Given the description of an element on the screen output the (x, y) to click on. 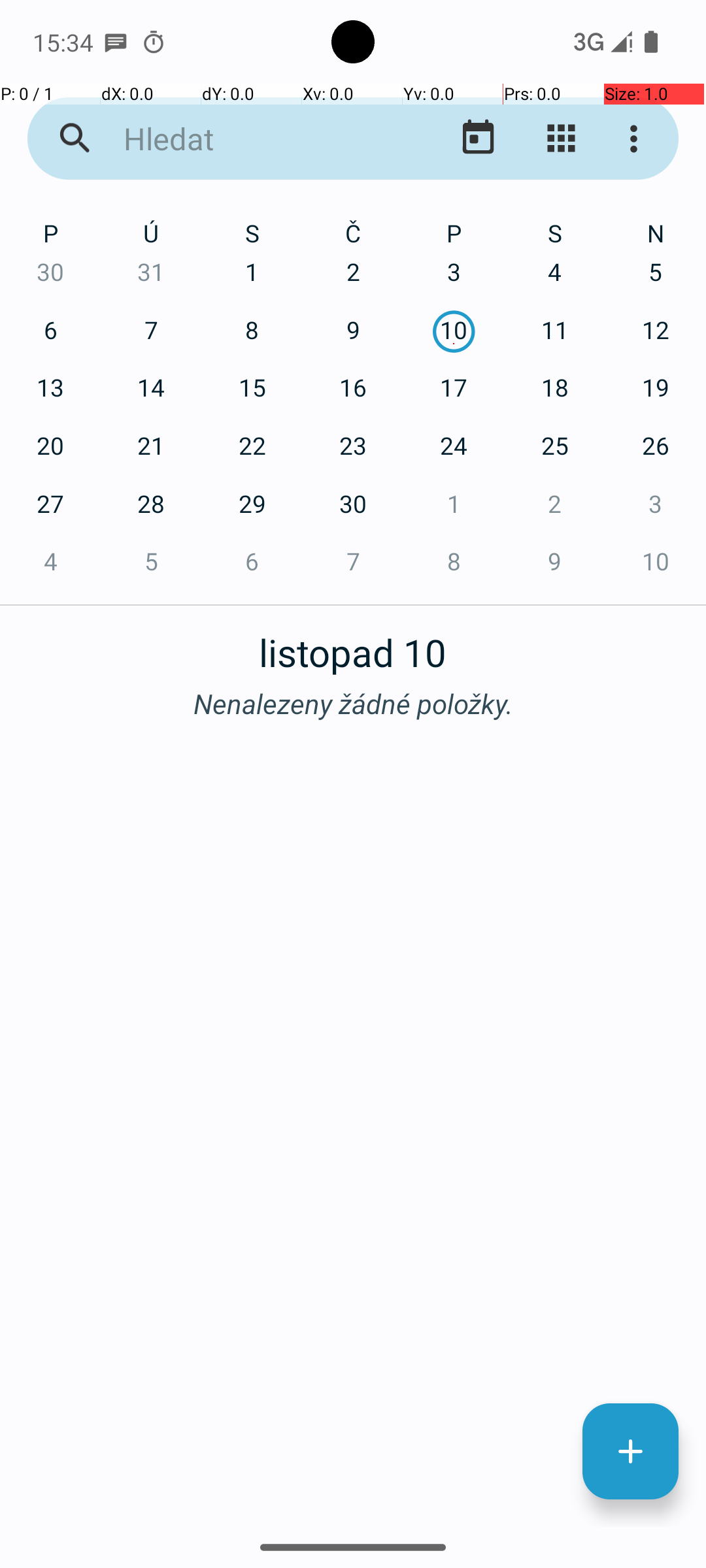
listopad 10 Element type: android.widget.TextView (352, 644)
Nenalezeny žádné položky. Element type: android.widget.TextView (352, 702)
SMS Messenger notification: +17247648679 Element type: android.widget.ImageView (115, 41)
